Given the description of an element on the screen output the (x, y) to click on. 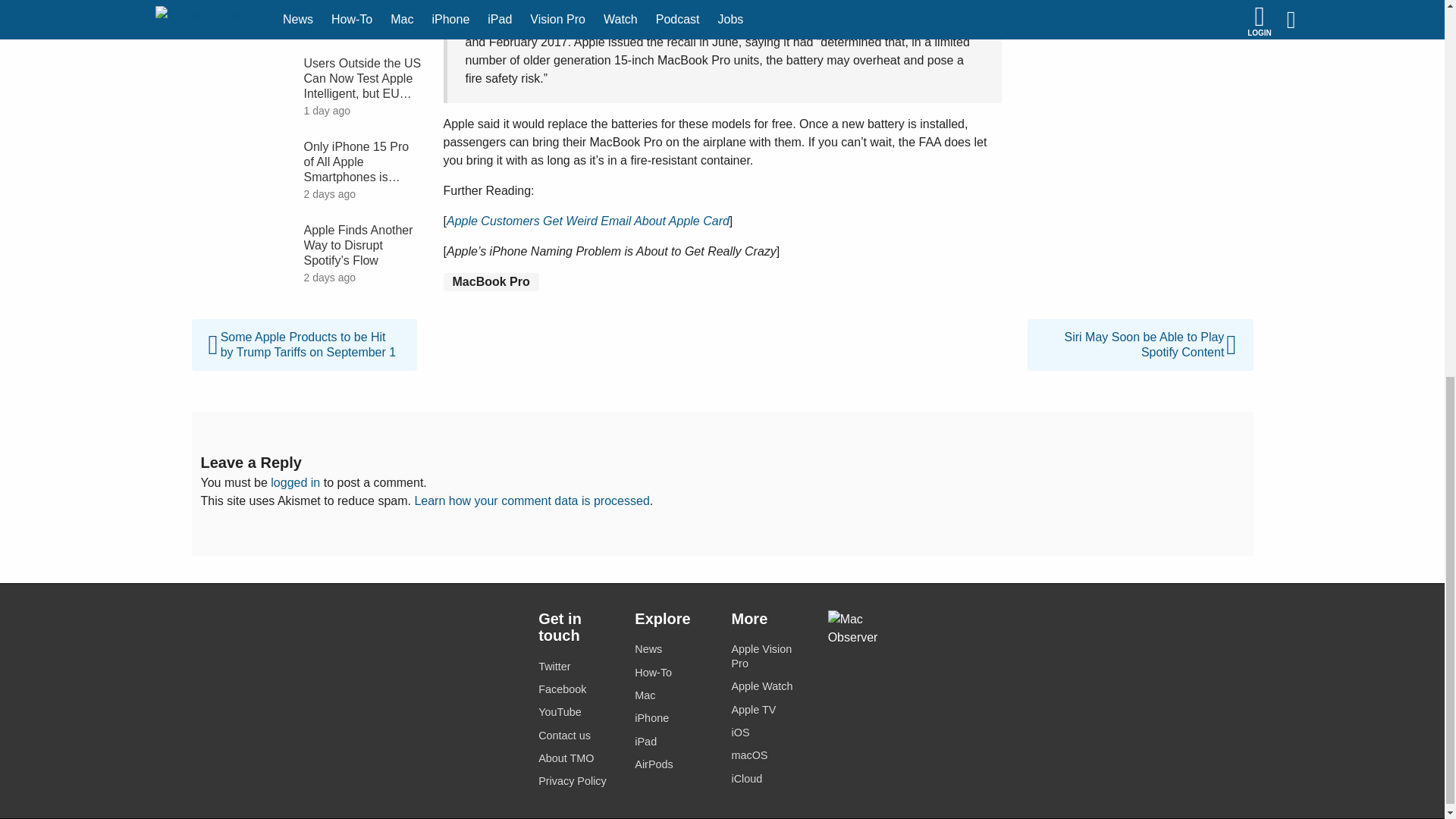
Mac (673, 695)
About TMO (576, 758)
Apple Customers Get Weird Email About Apple Card (587, 220)
News (673, 649)
Contact us (576, 735)
Facebook (576, 689)
logged in (295, 481)
MacBook Pro (490, 281)
iPhone (673, 718)
Learn how your comment data is processed (531, 500)
